Given the description of an element on the screen output the (x, y) to click on. 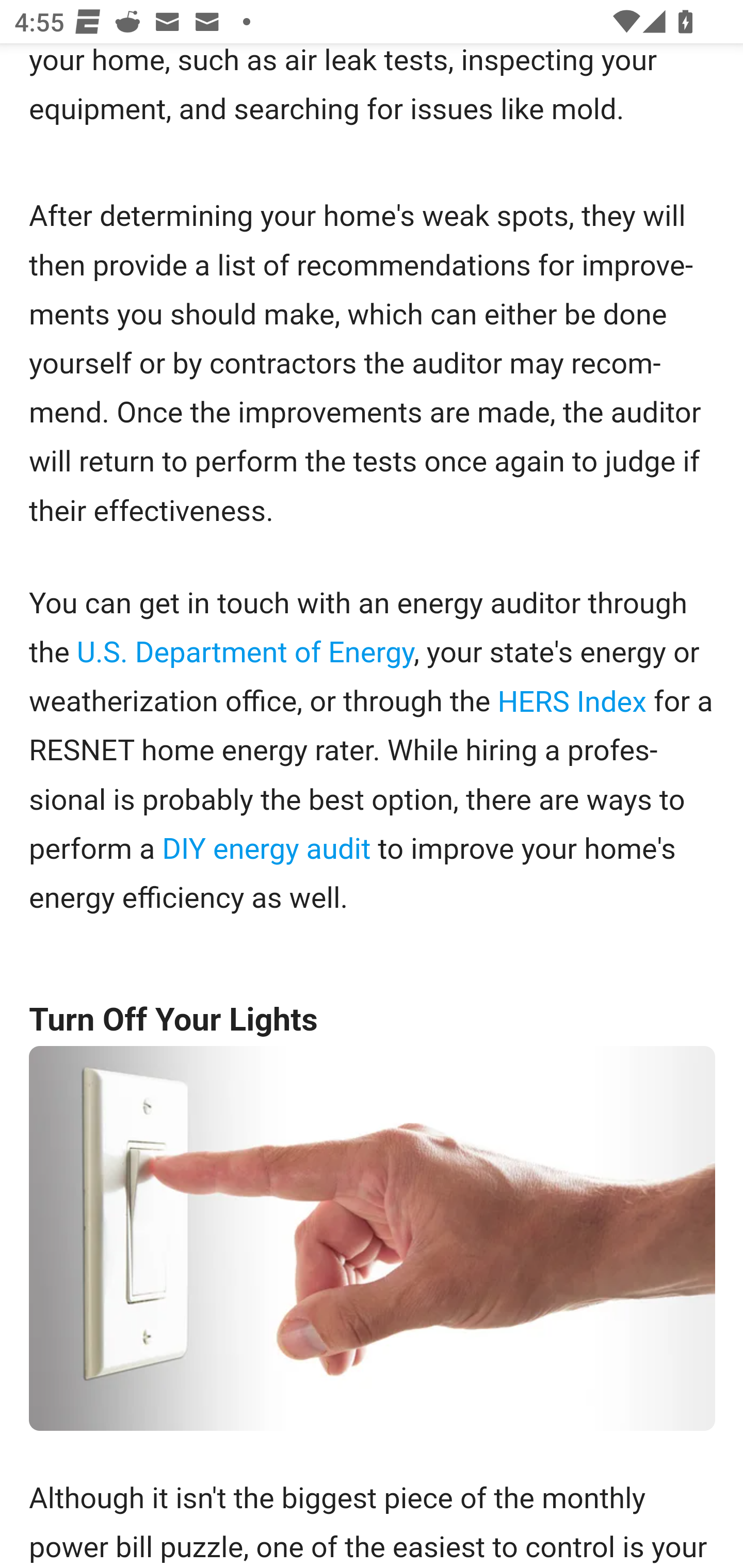
U.S. Department of Energy (245, 653)
HERS Index (571, 701)
DIY energy audit (266, 849)
